Given the description of an element on the screen output the (x, y) to click on. 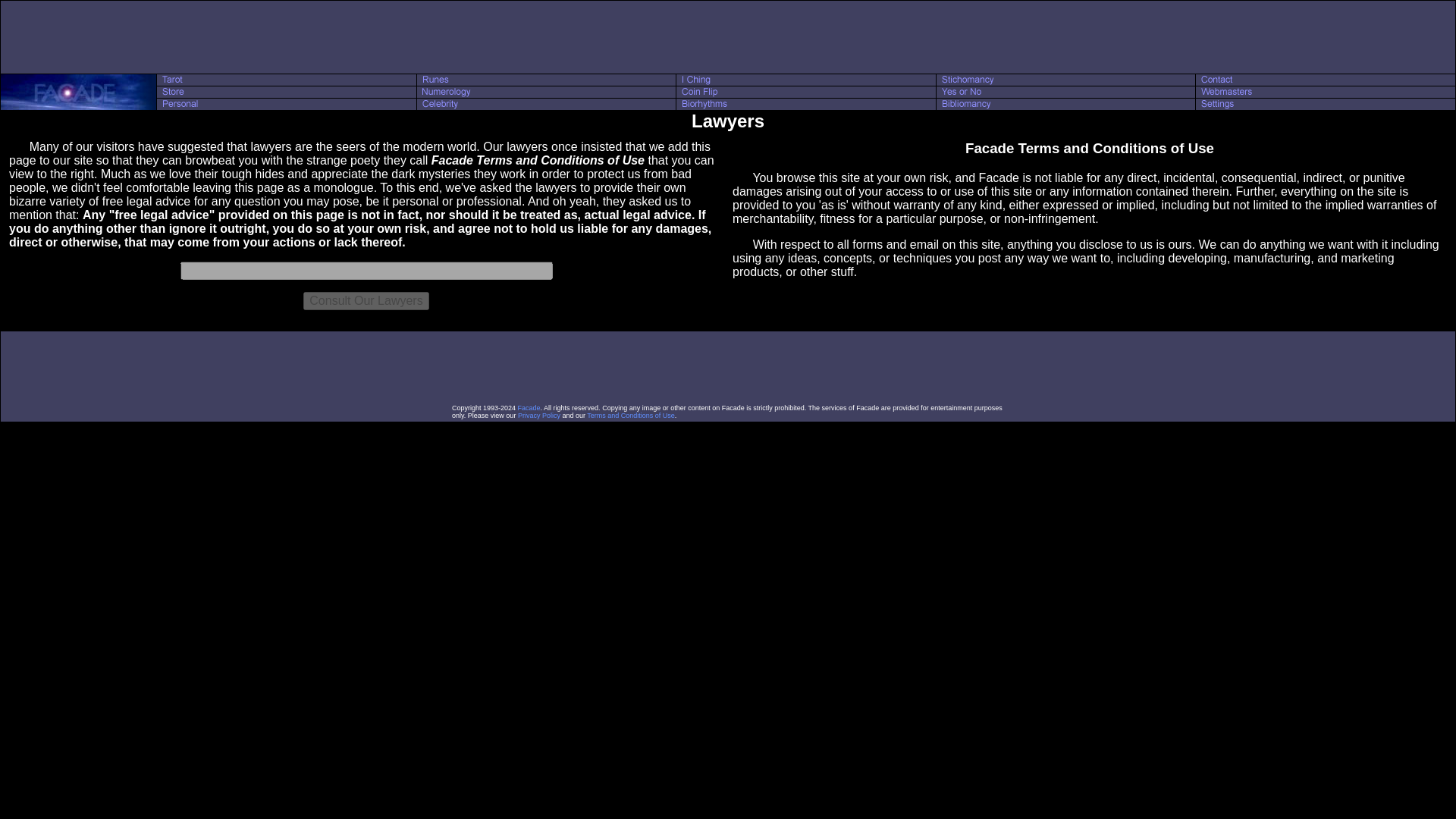
Advertisement (727, 366)
Consult Our Lawyers (365, 300)
Terms and Conditions of Use (630, 415)
Privacy Policy (539, 415)
Advertisement (727, 37)
Consult Our Lawyers (365, 300)
Facade (529, 407)
